Given the description of an element on the screen output the (x, y) to click on. 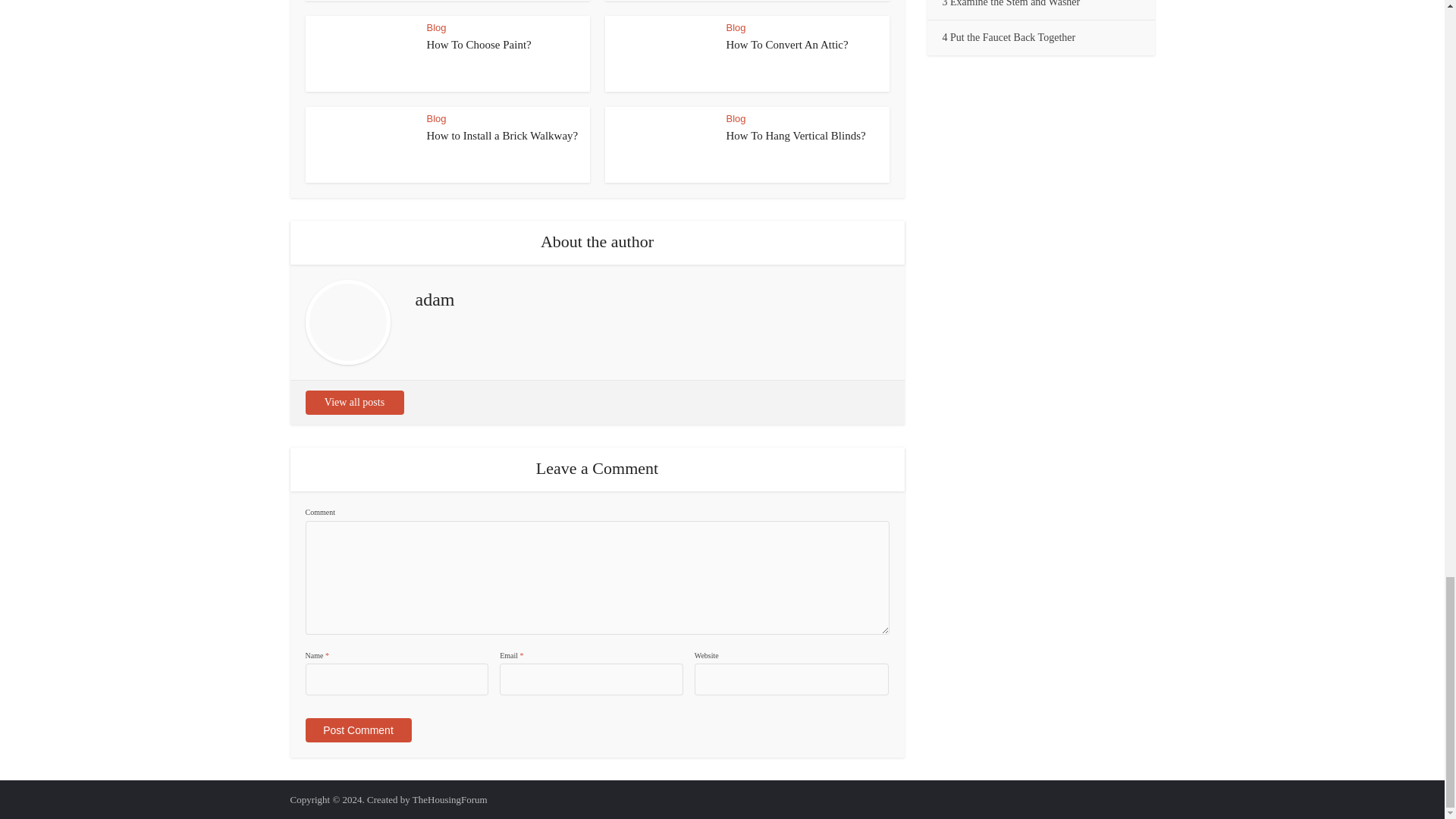
How To Choose Paint? (478, 44)
Blog (435, 27)
How To Hang Vertical Blinds? (796, 135)
How To Choose Paint? (478, 44)
Post Comment (357, 730)
How To Convert An Attic? (787, 44)
Blog (735, 27)
How to Install a Brick Walkway? (502, 135)
How To Convert An Attic? (787, 44)
